Given the description of an element on the screen output the (x, y) to click on. 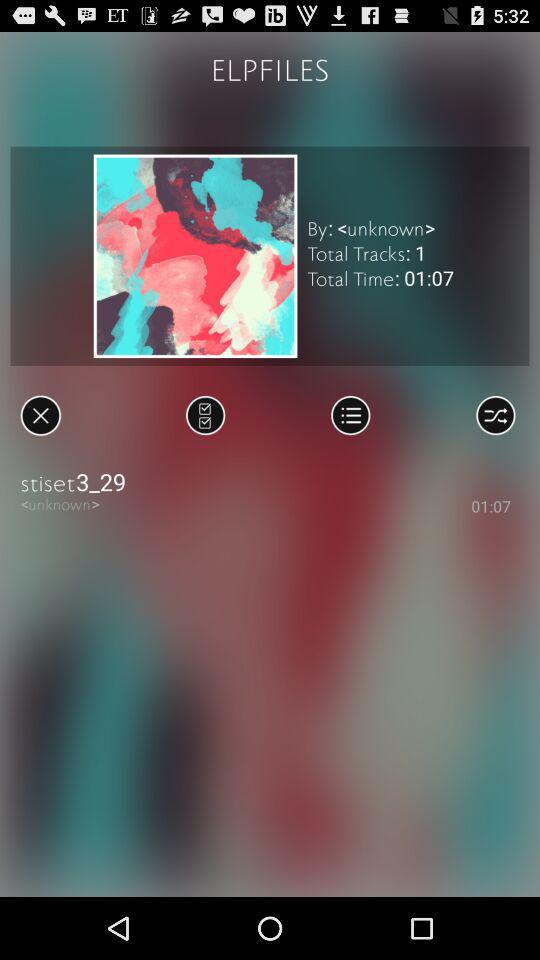
open current playlist (350, 415)
